Given the description of an element on the screen output the (x, y) to click on. 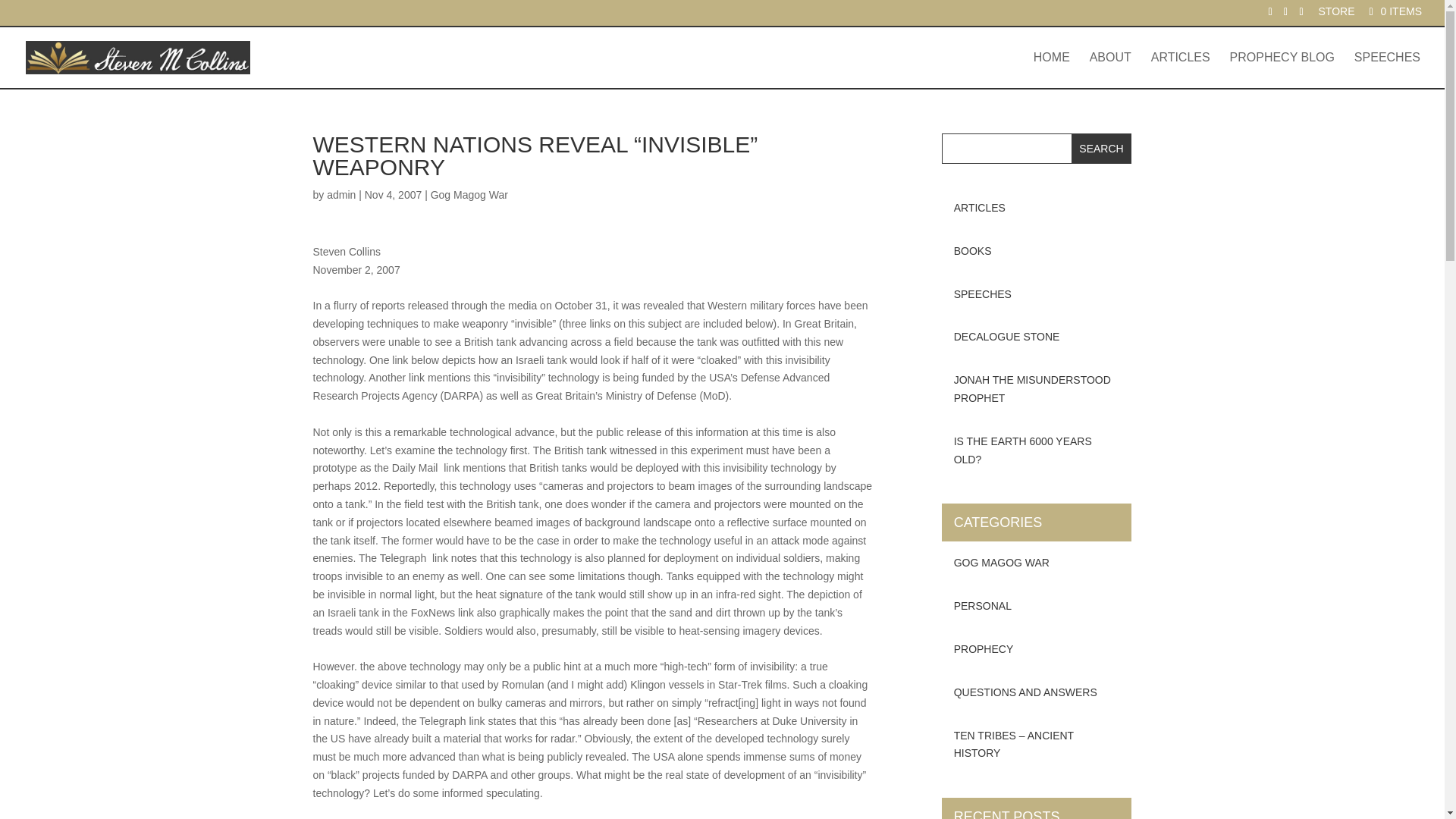
DECALOGUE STONE (1037, 337)
HOME (1051, 69)
QUESTIONS AND ANSWERS (1037, 692)
JONAH THE MISUNDERSTOOD PROPHET (1037, 389)
SPEECHES (1037, 294)
0 ITEMS (1394, 10)
PROPHECY BLOG (1282, 69)
BOOKS (1037, 251)
PERSONAL (1037, 606)
ARTICLES (1037, 208)
admin (340, 194)
Search (1101, 148)
IS THE EARTH 6000 YEARS OLD? (1037, 450)
Posts by admin (340, 194)
Search (1101, 148)
